Given the description of an element on the screen output the (x, y) to click on. 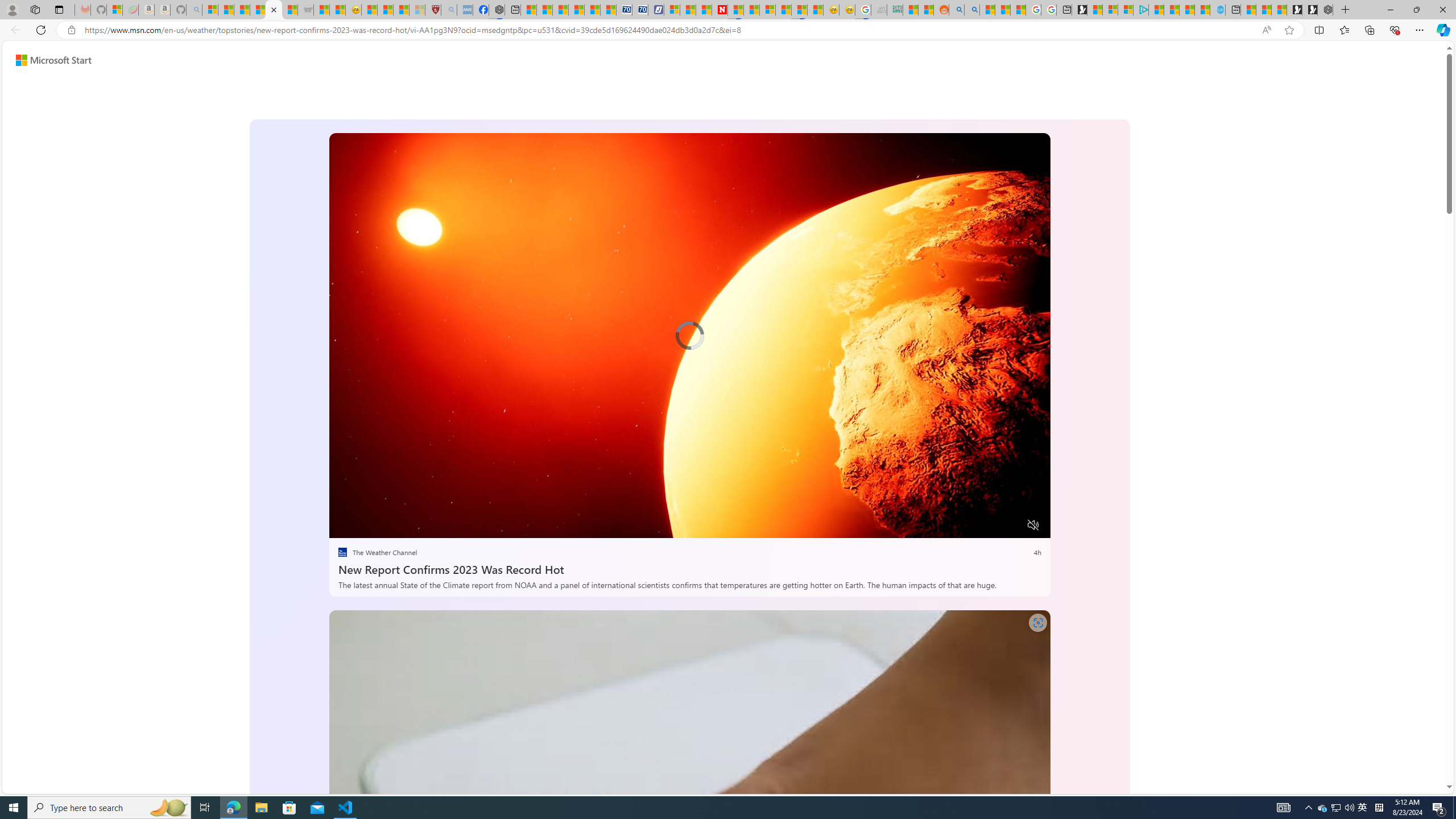
The Weather Channel - MSN (241, 9)
New Report Confirms 2023 Was Record Hot (689, 567)
Newsweek - News, Analysis, Politics, Business, Technology (719, 9)
Seek Back (368, 525)
